Given the description of an element on the screen output the (x, y) to click on. 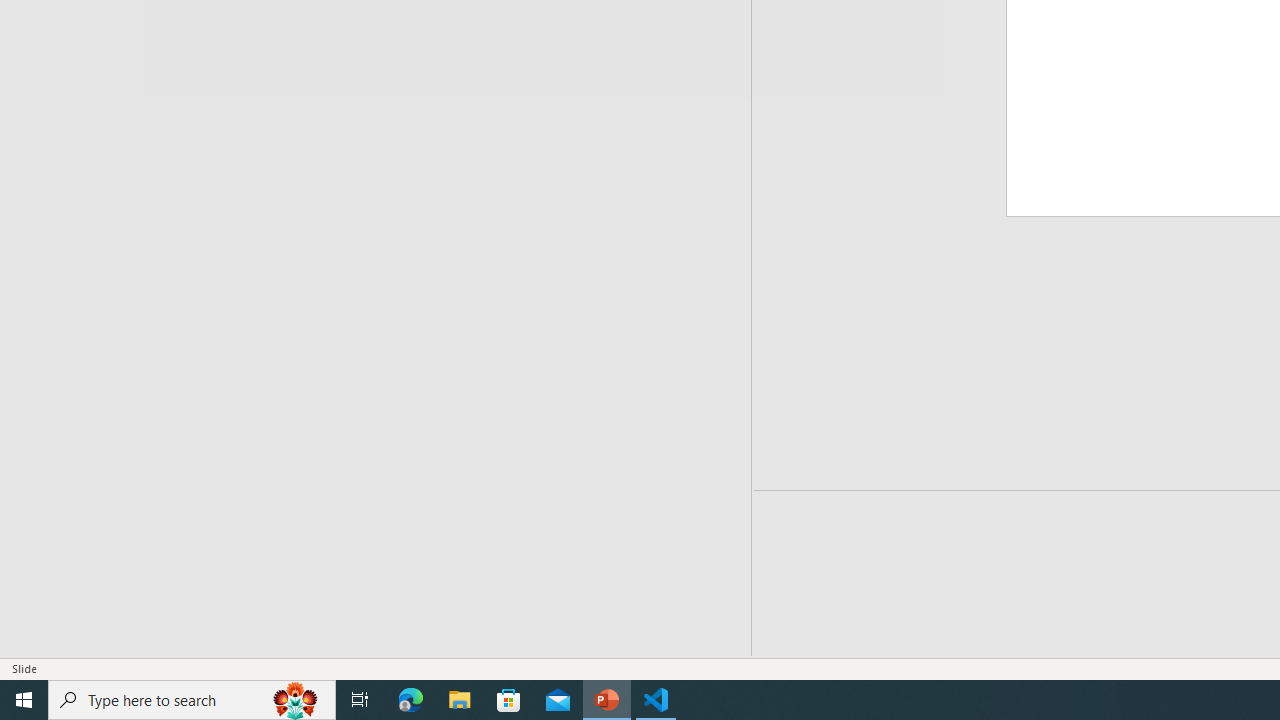
Microsoft Edge (411, 699)
